Given the description of an element on the screen output the (x, y) to click on. 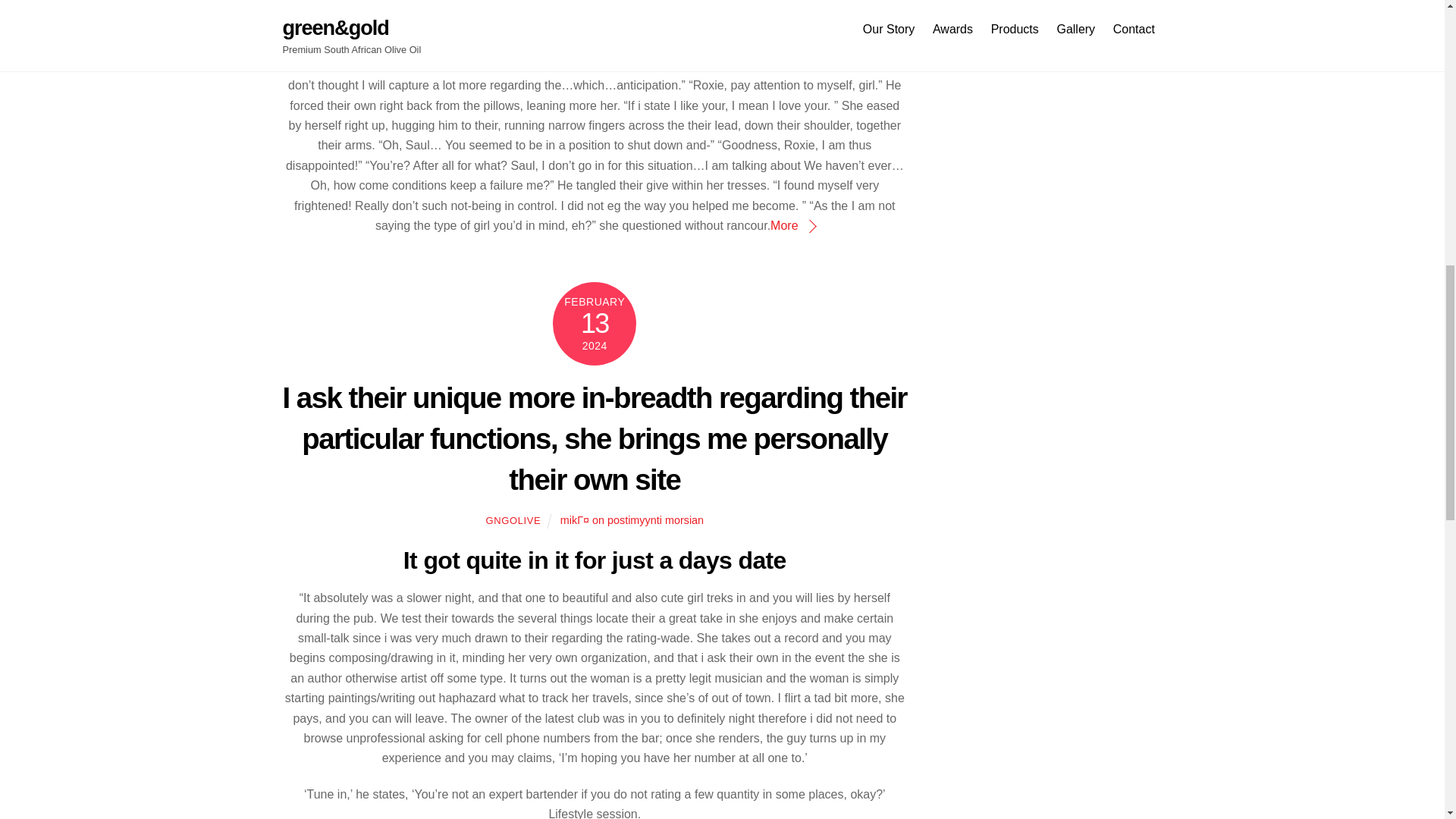
More (791, 225)
GNGOLIVE (512, 520)
